Given the description of an element on the screen output the (x, y) to click on. 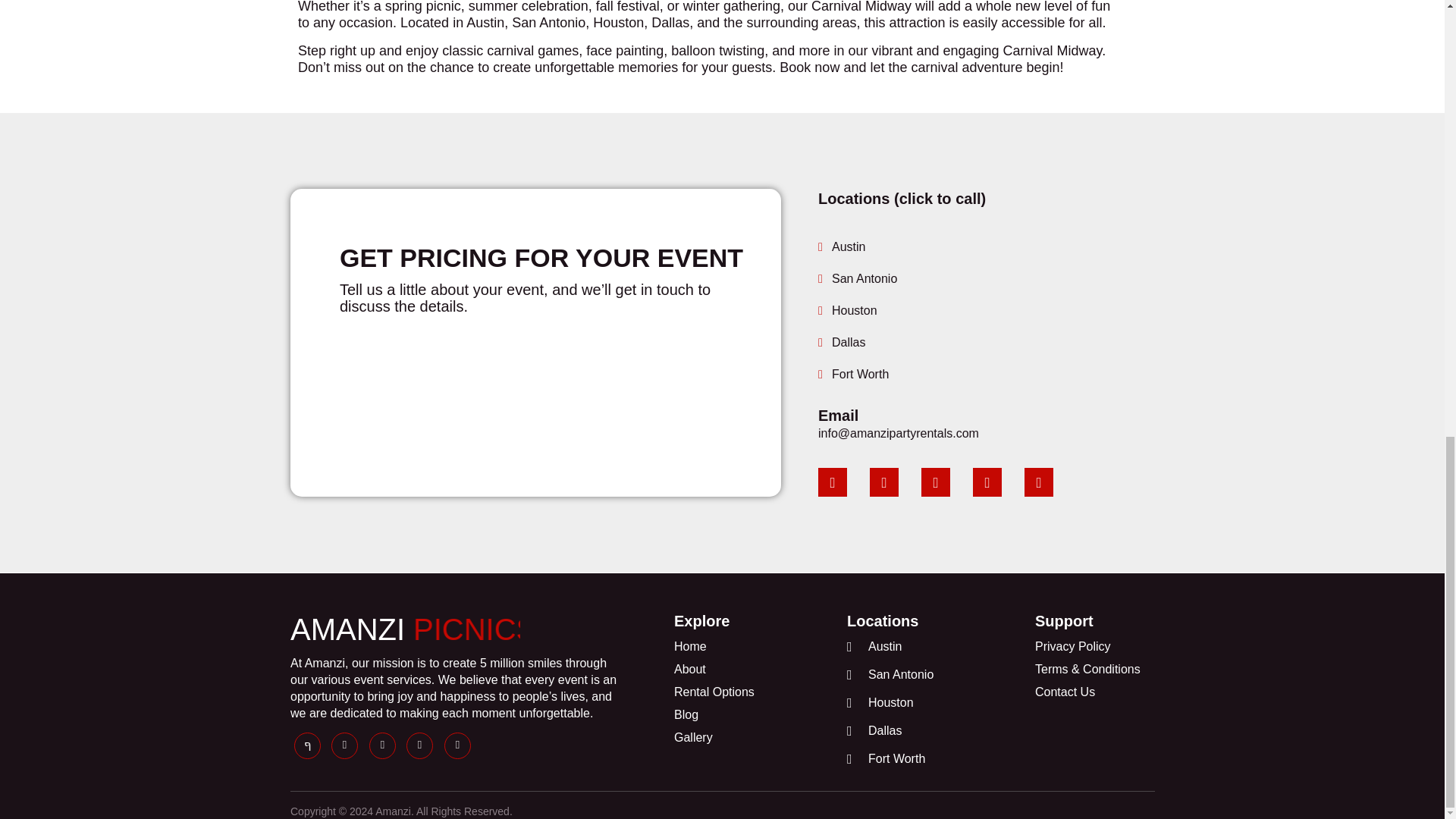
General Contact Form (535, 390)
